Given the description of an element on the screen output the (x, y) to click on. 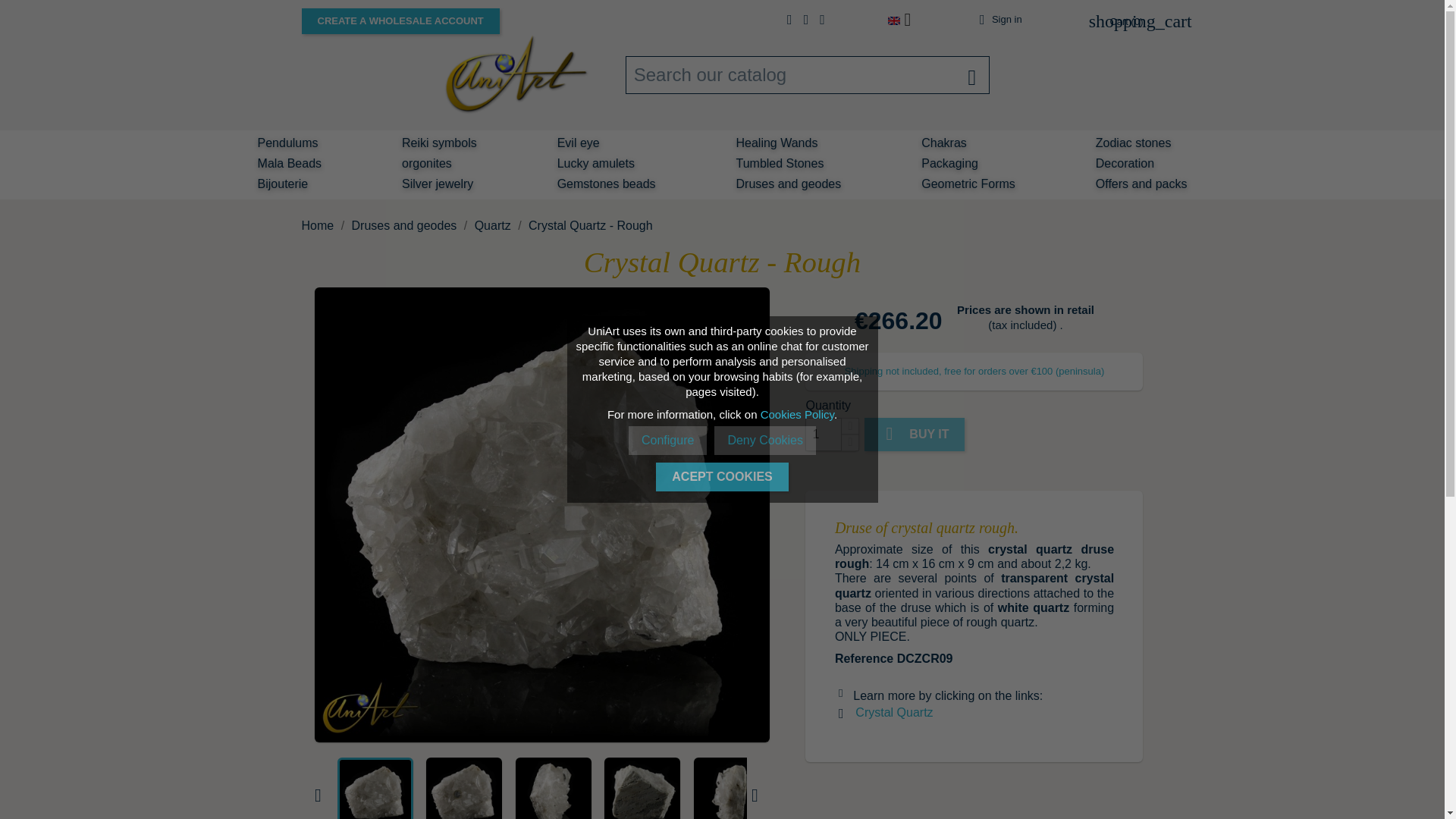
Lucky amulets (596, 164)
Decoration (1124, 164)
Druses and geodes (788, 185)
Bijouterie (283, 185)
Log in to your customer account (998, 19)
Gemstones beads (606, 185)
Rules and shipping costs (974, 370)
Crystal Quartz - Rough (732, 788)
Crystal Quartz - Rough (375, 788)
Add to cart (914, 434)
Reiki symbols (438, 144)
Healing Wands (777, 144)
Crystal Quartz - Rough (641, 788)
1 (823, 434)
